Given the description of an element on the screen output the (x, y) to click on. 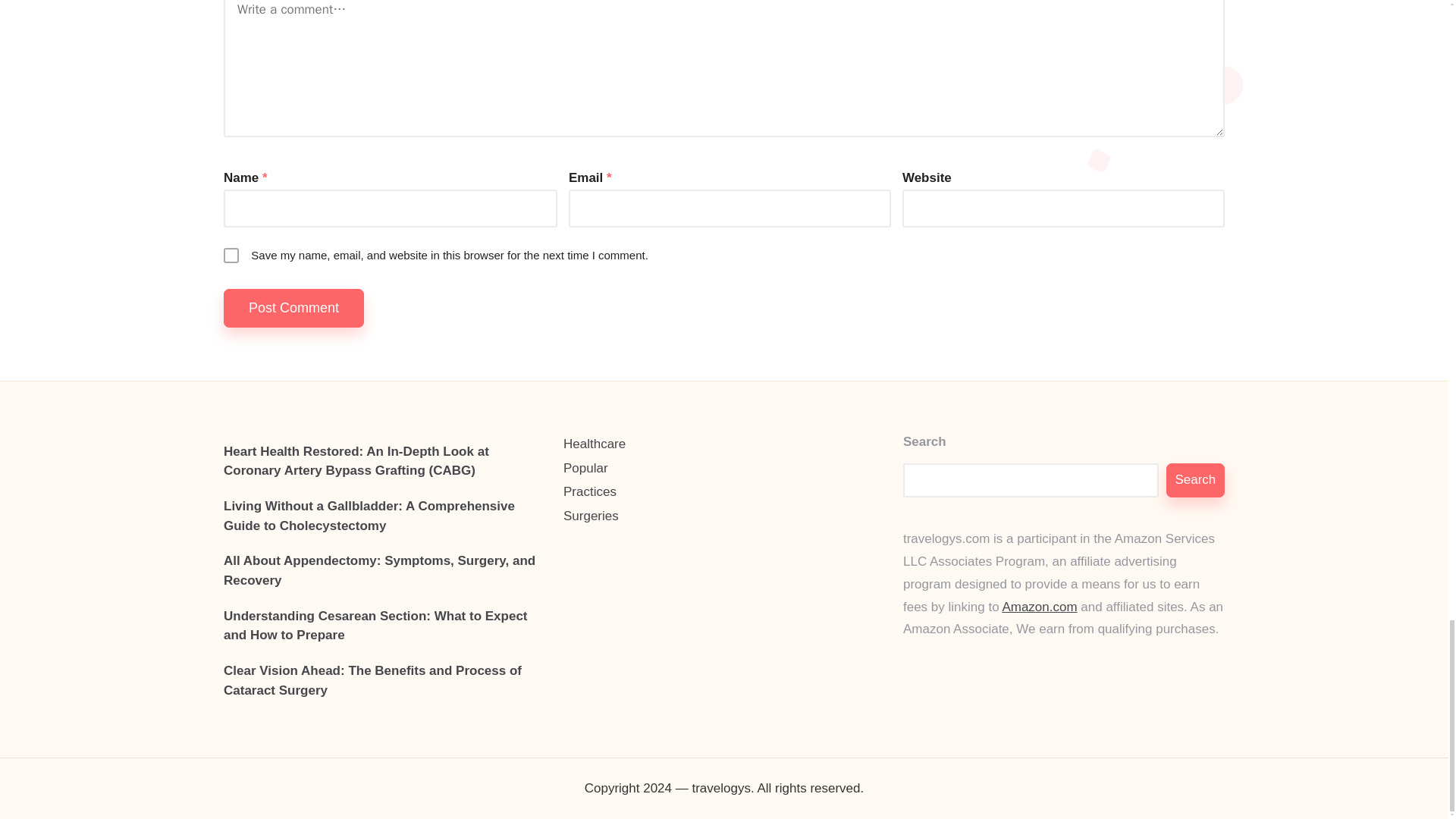
yes (231, 255)
Popular (724, 468)
Post Comment (294, 308)
All About Appendectomy: Symptoms, Surgery, and Recovery (384, 570)
Surgeries (724, 516)
Practices (724, 492)
Post Comment (294, 308)
Healthcare (724, 444)
